Given the description of an element on the screen output the (x, y) to click on. 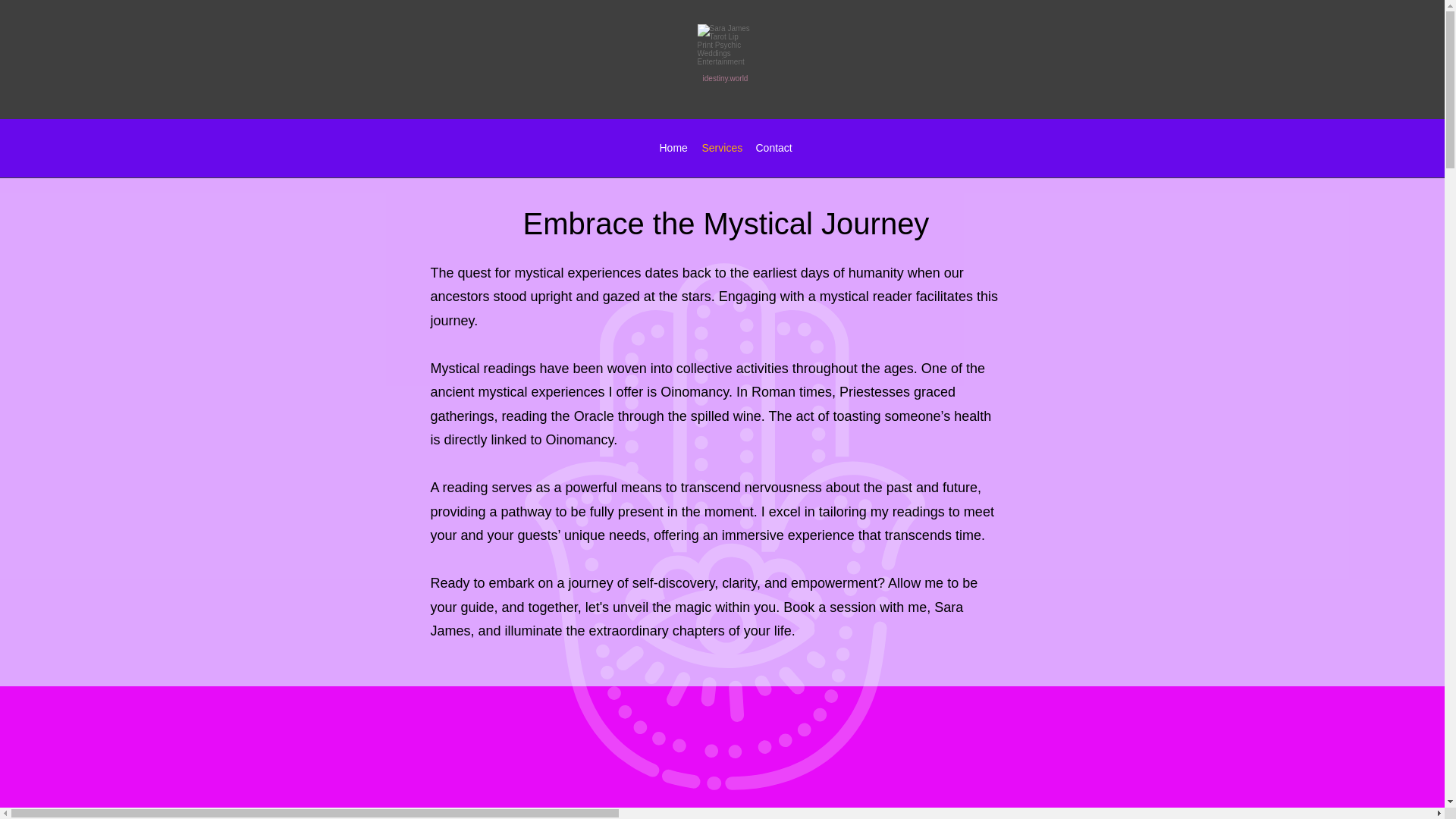
Home (673, 147)
Services (721, 147)
Contact (772, 147)
